Given the description of an element on the screen output the (x, y) to click on. 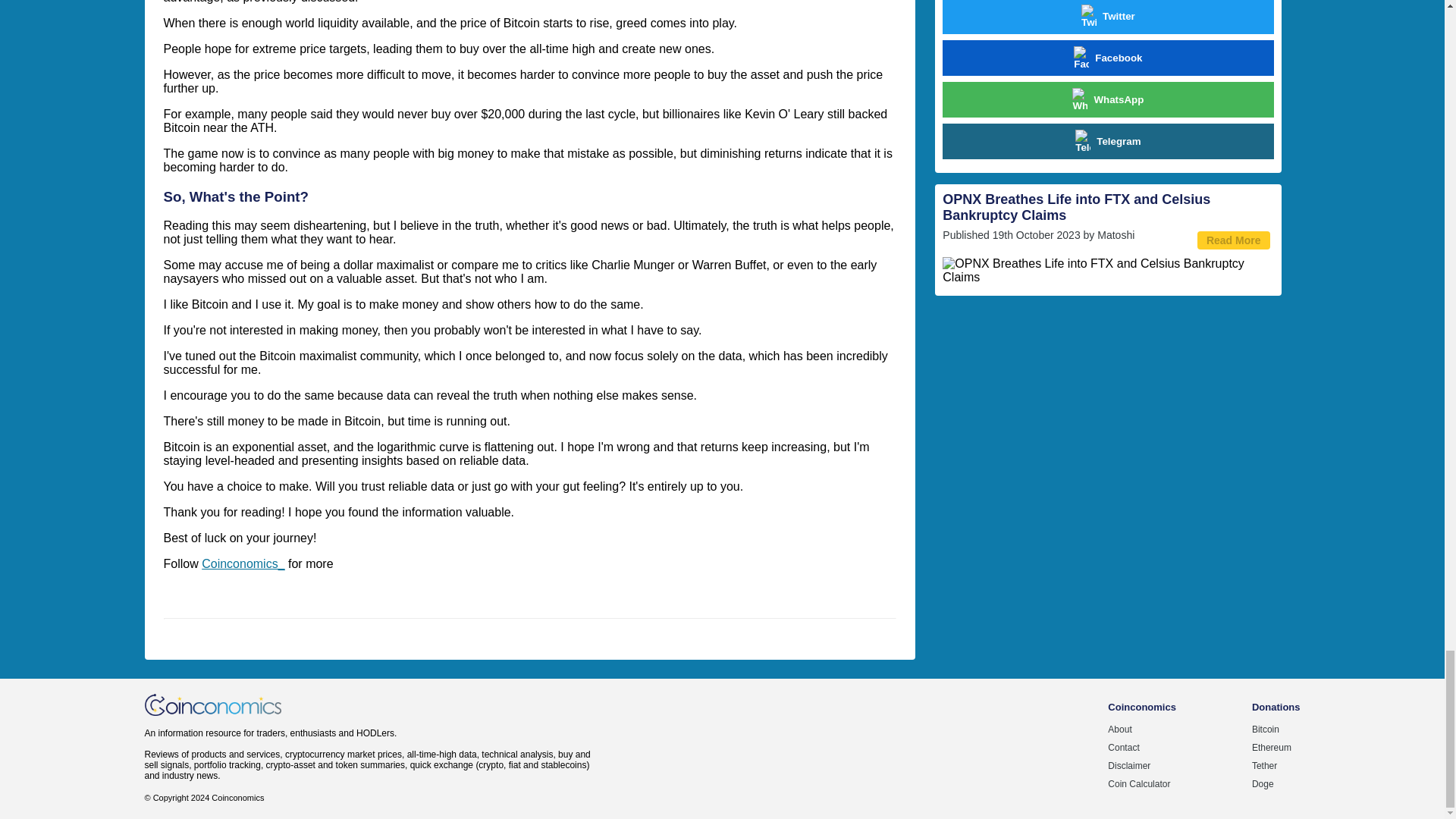
Contact (1123, 747)
Disclaimer (1129, 765)
About (1119, 728)
Coin Calculator (1139, 783)
Doge (1263, 783)
Tether (1264, 765)
Ethereum (1271, 747)
Bitcoin (1265, 728)
